Given the description of an element on the screen output the (x, y) to click on. 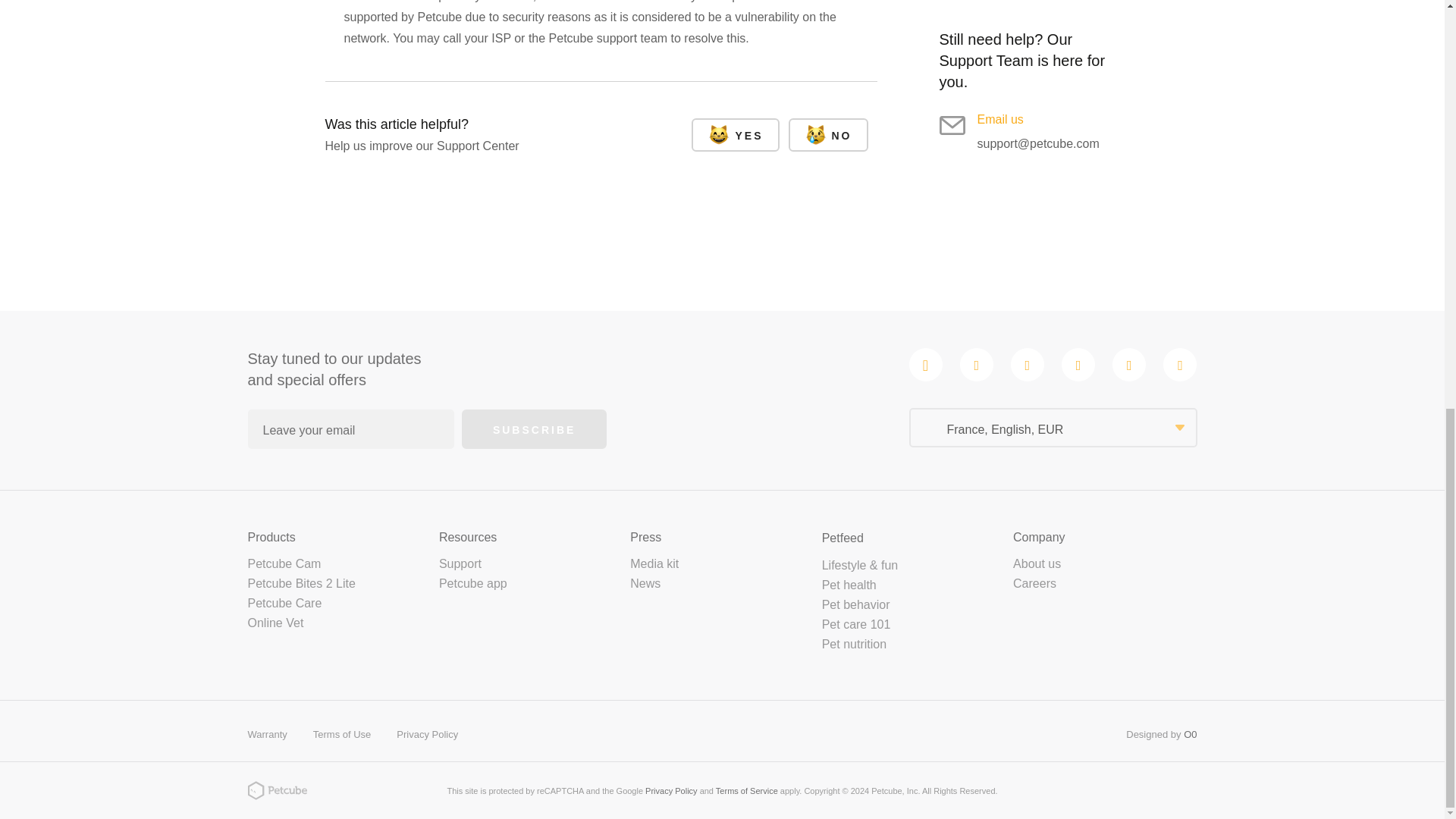
SUBSCRIBE (534, 428)
Petcube Cam (283, 563)
YES (734, 134)
NO (828, 134)
